Given the description of an element on the screen output the (x, y) to click on. 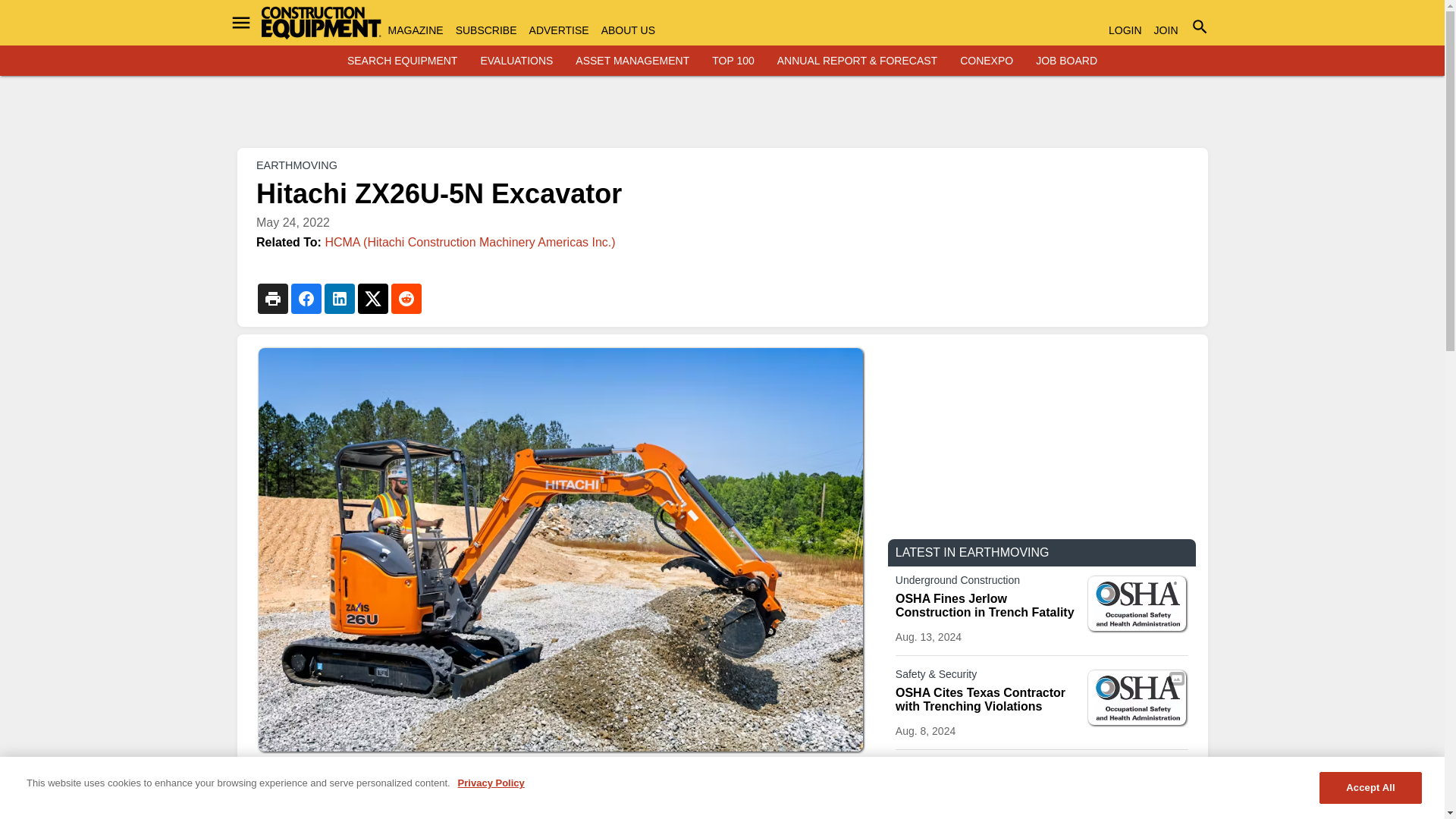
JOIN (1165, 30)
LOGIN (1124, 30)
TOP 100 (732, 60)
ADVERTISE (559, 30)
CONEXPO (986, 60)
Komatsu Autonomous Haul System (1136, 791)
ASSET MANAGEMENT (631, 60)
ABOUT US (628, 30)
SEARCH EQUIPMENT (402, 60)
